Given the description of an element on the screen output the (x, y) to click on. 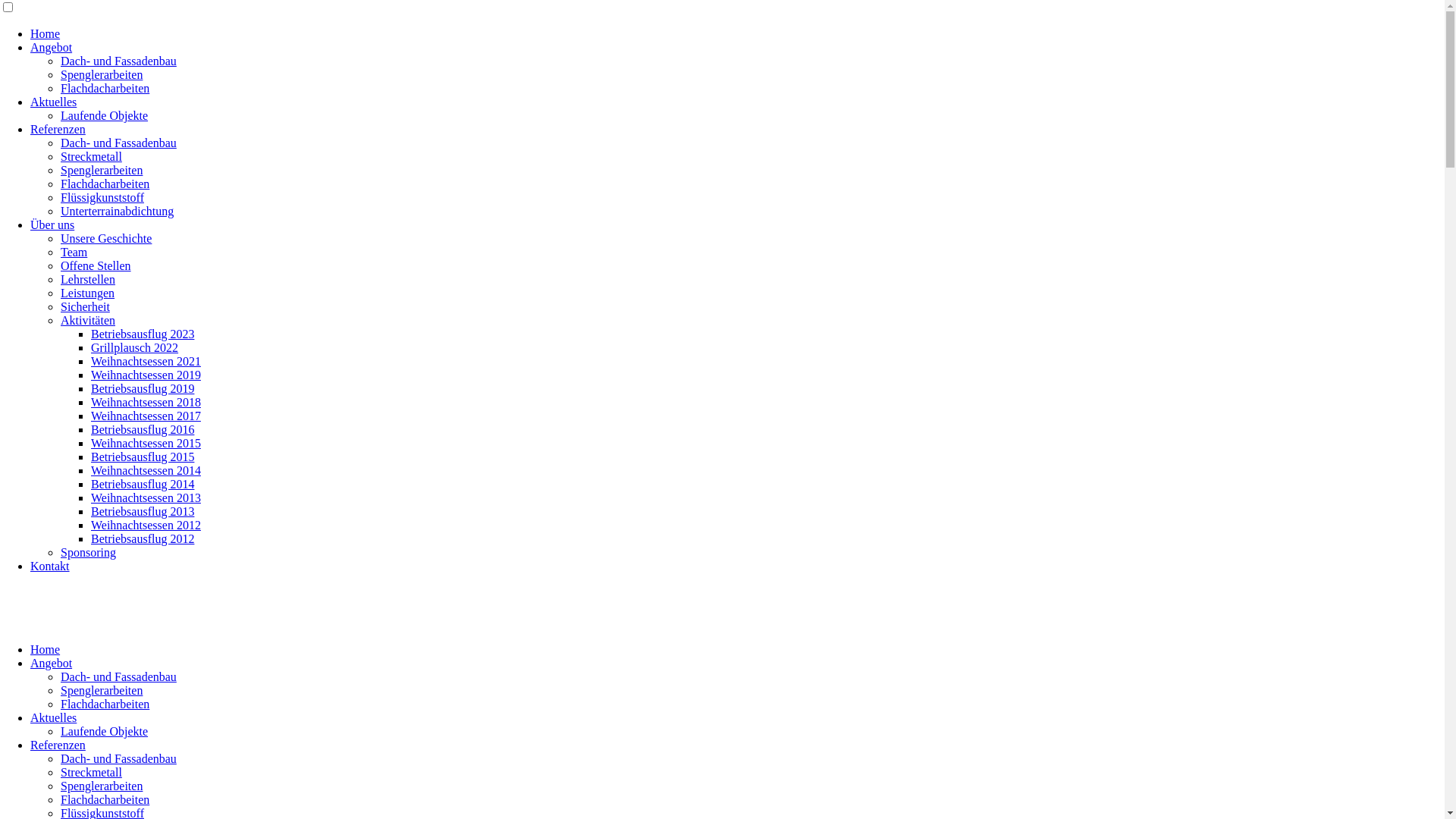
Angebot Element type: text (51, 662)
Laufende Objekte Element type: text (103, 115)
Flachdacharbeiten Element type: text (104, 799)
Betriebsausflug 2016 Element type: text (142, 429)
Unsere Geschichte Element type: text (105, 238)
Spenglerarbeiten Element type: text (101, 169)
Unterterrainabdichtung Element type: text (116, 210)
Streckmetall Element type: text (91, 771)
Aktuelles Element type: text (53, 101)
Betriebsausflug 2012 Element type: text (142, 538)
Dach- und Fassadenbau Element type: text (118, 60)
Betriebsausflug 2023 Element type: text (142, 333)
Weihnachtsessen 2018 Element type: text (145, 401)
Leistungen Element type: text (87, 292)
Angebot Element type: text (51, 46)
Betriebsausflug 2019 Element type: text (142, 388)
Betriebsausflug 2014 Element type: text (142, 483)
Sponsoring Element type: text (88, 552)
Weihnachtsessen 2015 Element type: text (145, 442)
Betriebsausflug 2013 Element type: text (142, 511)
Weihnachtsessen 2017 Element type: text (145, 415)
Dach- und Fassadenbau Element type: text (118, 142)
Spenglerarbeiten Element type: text (101, 74)
Streckmetall Element type: text (91, 156)
Dach- und Fassadenbau Element type: text (118, 758)
Laufende Objekte Element type: text (103, 730)
Weihnachtsessen 2019 Element type: text (145, 374)
Kontakt Element type: text (49, 565)
Betriebsausflug 2015 Element type: text (142, 456)
Sicherheit Element type: text (84, 306)
Flachdacharbeiten Element type: text (104, 183)
Weihnachtsessen 2021 Element type: text (145, 360)
Referenzen Element type: text (57, 744)
Team Element type: text (73, 251)
Weihnachtsessen 2014 Element type: text (145, 470)
Home Element type: text (44, 649)
Lehrstellen Element type: text (87, 279)
Aktuelles Element type: text (53, 717)
Flachdacharbeiten Element type: text (104, 703)
Referenzen Element type: text (57, 128)
Spenglerarbeiten Element type: text (101, 785)
Weihnachtsessen 2013 Element type: text (145, 497)
Weihnachtsessen 2012 Element type: text (145, 524)
Home Element type: text (44, 33)
Flachdacharbeiten Element type: text (104, 87)
Offene Stellen Element type: text (95, 265)
Grillplausch 2022 Element type: text (134, 347)
Spenglerarbeiten Element type: text (101, 690)
Dach- und Fassadenbau Element type: text (118, 676)
